Given the description of an element on the screen output the (x, y) to click on. 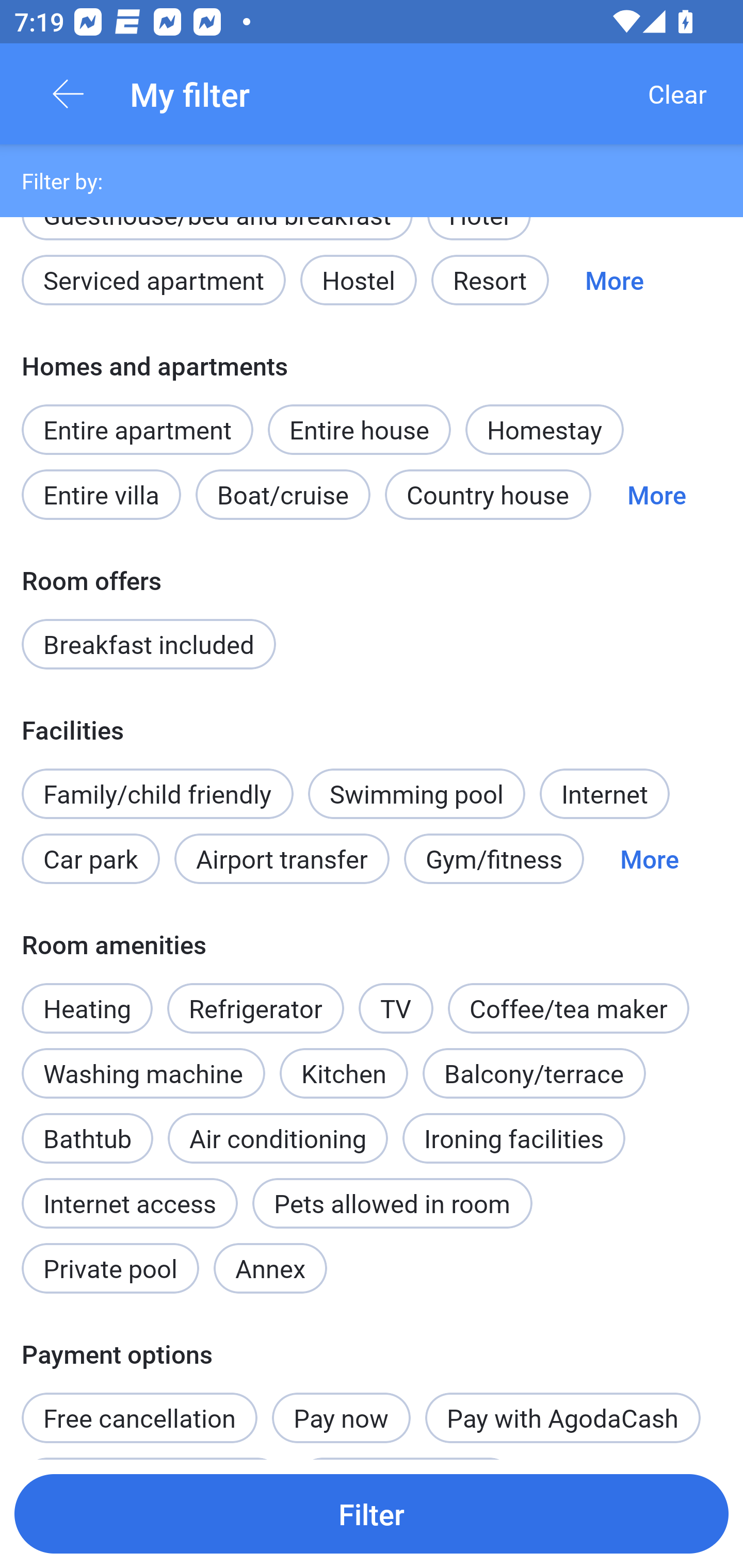
Clear (676, 93)
Serviced apartment (153, 279)
Hostel (358, 279)
Resort (490, 279)
More (614, 279)
Entire apartment (137, 429)
Entire house (359, 429)
Homestay (544, 429)
Entire villa (101, 494)
Boat/cruise (282, 494)
Country house (487, 494)
More (656, 494)
Breakfast included (148, 643)
Family/child friendly (157, 794)
Swimming pool (416, 794)
Internet (604, 794)
Car park (90, 858)
Airport transfer (281, 858)
Gym/fitness (493, 858)
More (649, 858)
Heating (87, 997)
Refrigerator (255, 1008)
TV (395, 1008)
Coffee/tea maker (568, 1008)
Washing machine (143, 1073)
Kitchen (343, 1073)
Balcony/terrace (533, 1073)
Bathtub (87, 1127)
Air conditioning (277, 1138)
Ironing facilities (513, 1138)
Internet access (129, 1203)
Pets allowed in room (392, 1203)
Private pool (110, 1268)
Annex (269, 1268)
Free cancellation (139, 1407)
Pay now (340, 1417)
Pay with AgodaCash (562, 1417)
Filter (371, 1513)
